Given the description of an element on the screen output the (x, y) to click on. 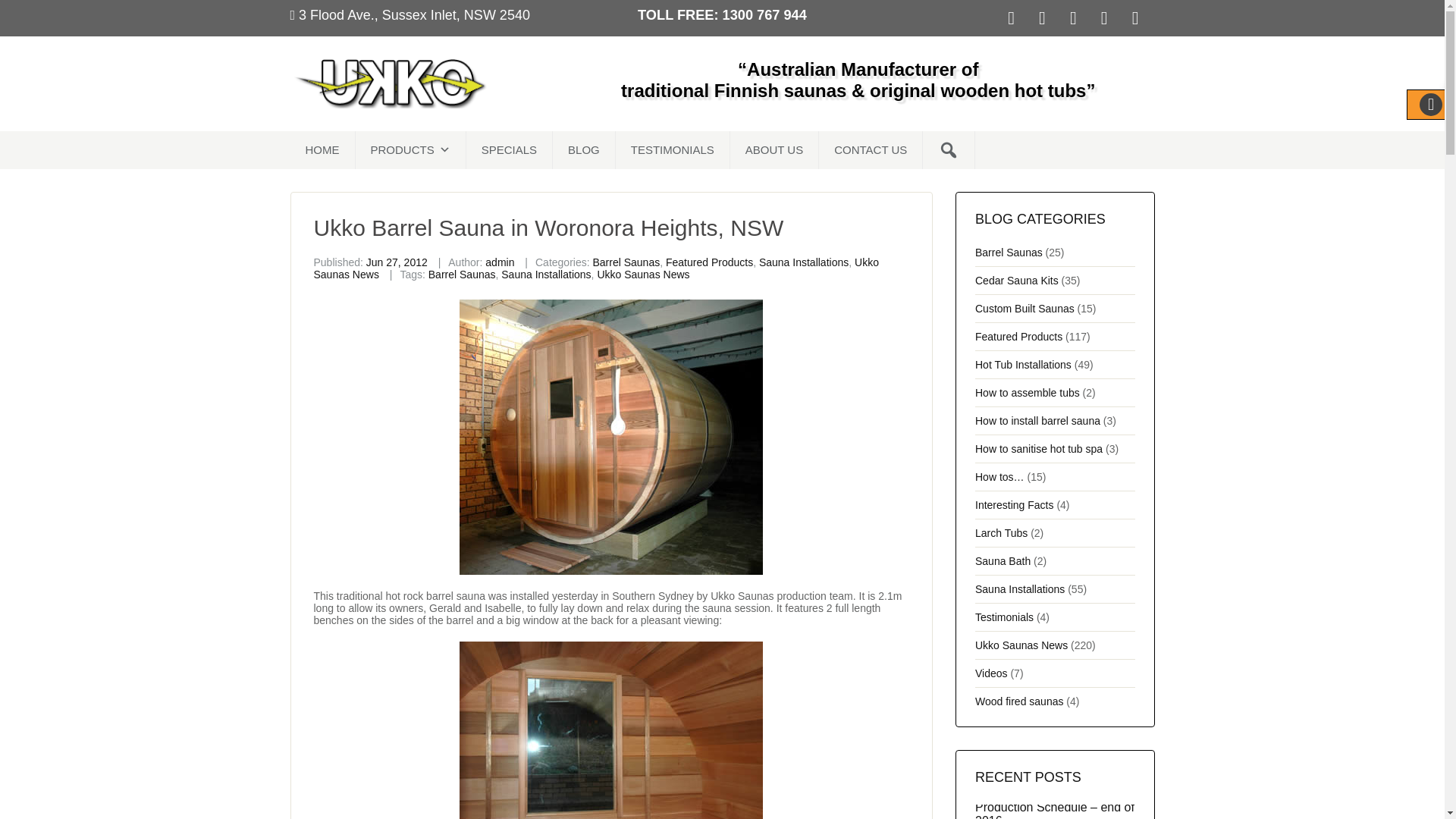
Australian sauna and Cedar hot tubs manufacturer (389, 82)
CONTACT US (870, 149)
BLOG (584, 149)
TESTIMONIALS (672, 149)
ABOUT US (774, 149)
Connect us on  (1077, 17)
Ukko Saunas News (642, 274)
Connect us on  (1045, 17)
PRODUCTS (410, 149)
Barrel Saunas (625, 262)
View all posts by admin (498, 262)
Connect us on  (1108, 17)
SPECIALS (509, 149)
sauna-back-window (611, 730)
